Given the description of an element on the screen output the (x, y) to click on. 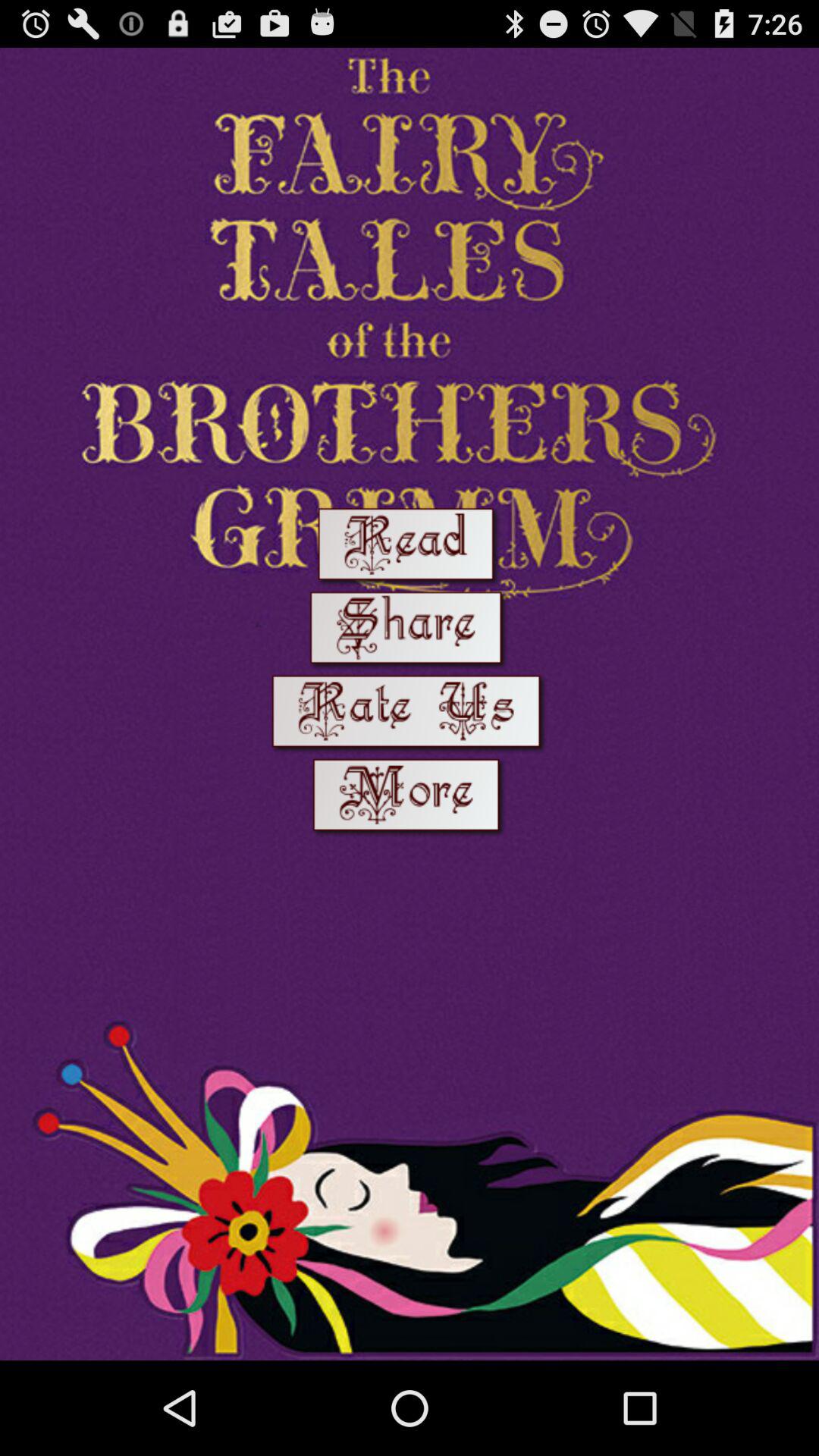
open the share menu (408, 630)
